Given the description of an element on the screen output the (x, y) to click on. 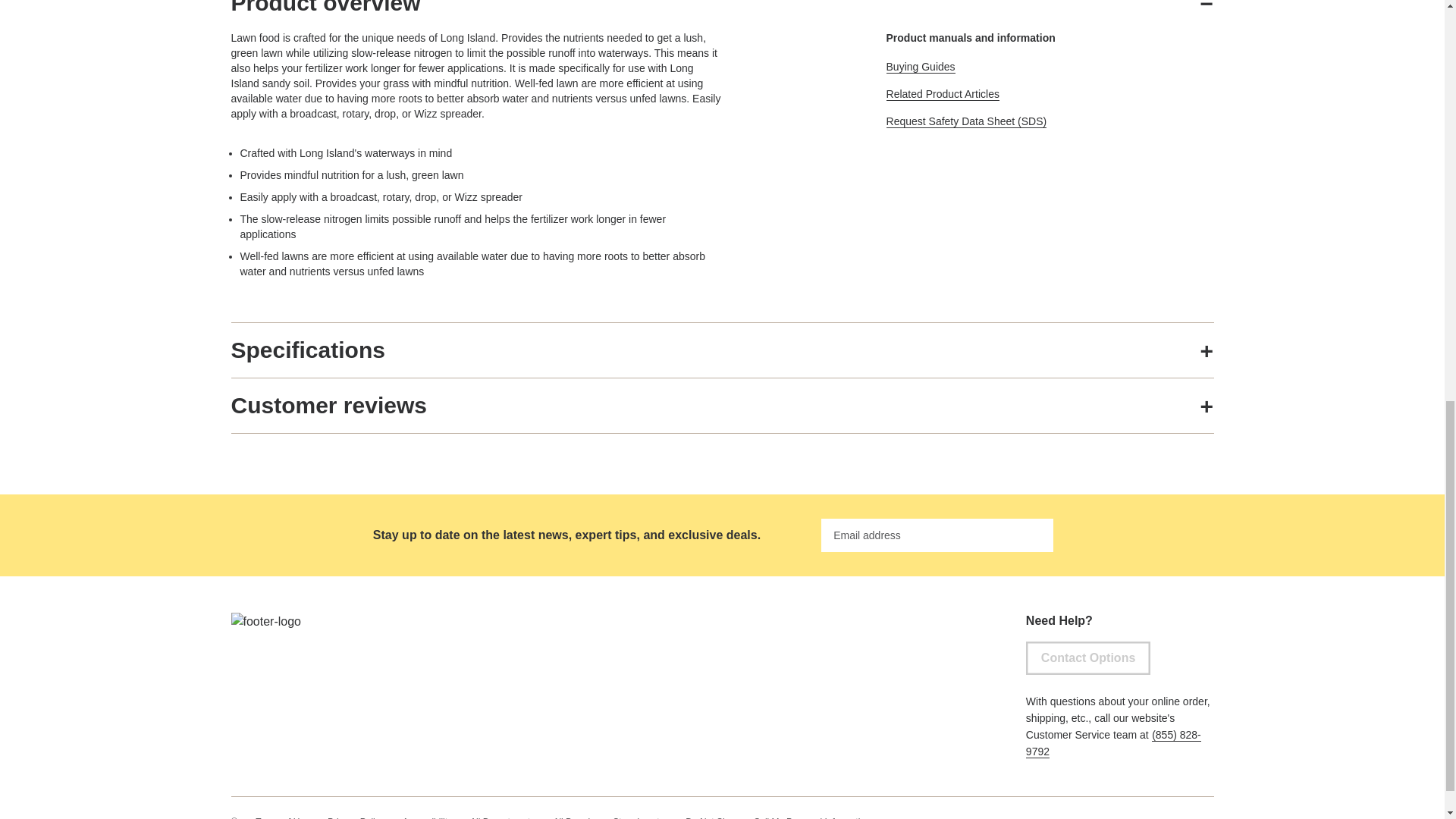
All Departments (502, 816)
Contact Options (1088, 657)
Related Product Articles (942, 93)
Store Locator (639, 816)
Buying Guides (920, 66)
Privacy Policy (355, 816)
Accessibility (427, 816)
Do Not Share or Sell My Personal Information (777, 816)
Terms of Use (282, 816)
Contact Options (1088, 657)
